Given the description of an element on the screen output the (x, y) to click on. 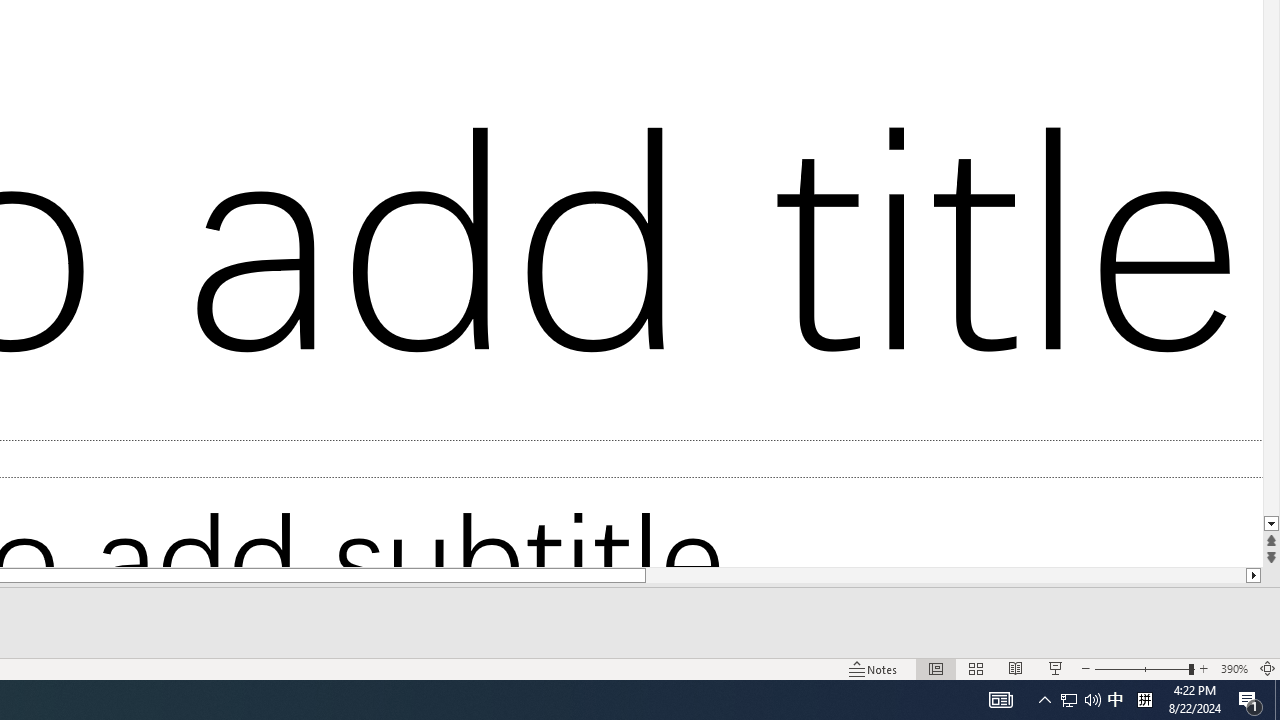
Zoom 159% (1234, 668)
